Given the description of an element on the screen output the (x, y) to click on. 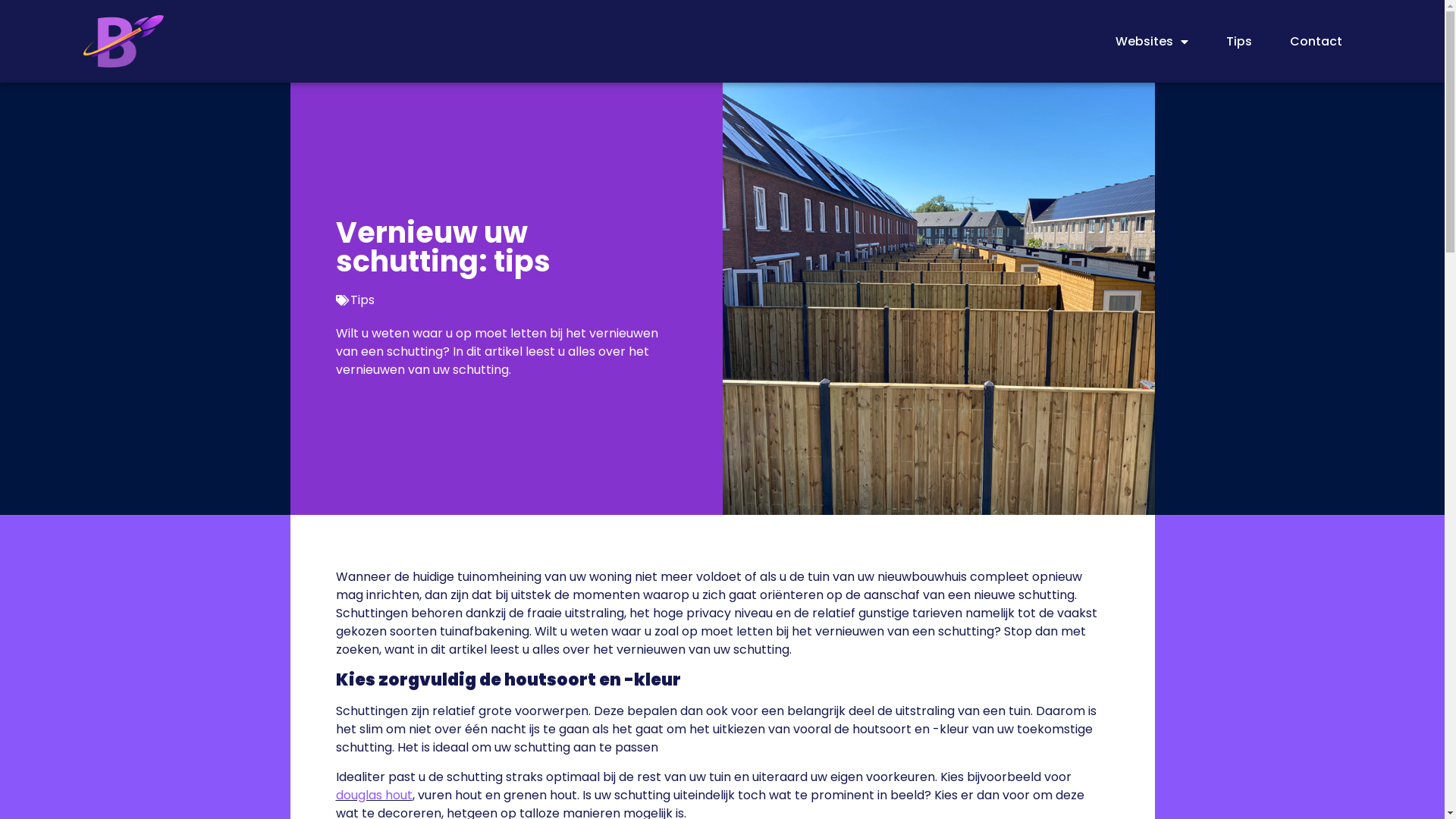
Tips Element type: text (1238, 41)
Websites Element type: text (1151, 41)
Contact Element type: text (1315, 41)
douglas hout Element type: text (373, 794)
Tips Element type: text (362, 299)
